Given the description of an element on the screen output the (x, y) to click on. 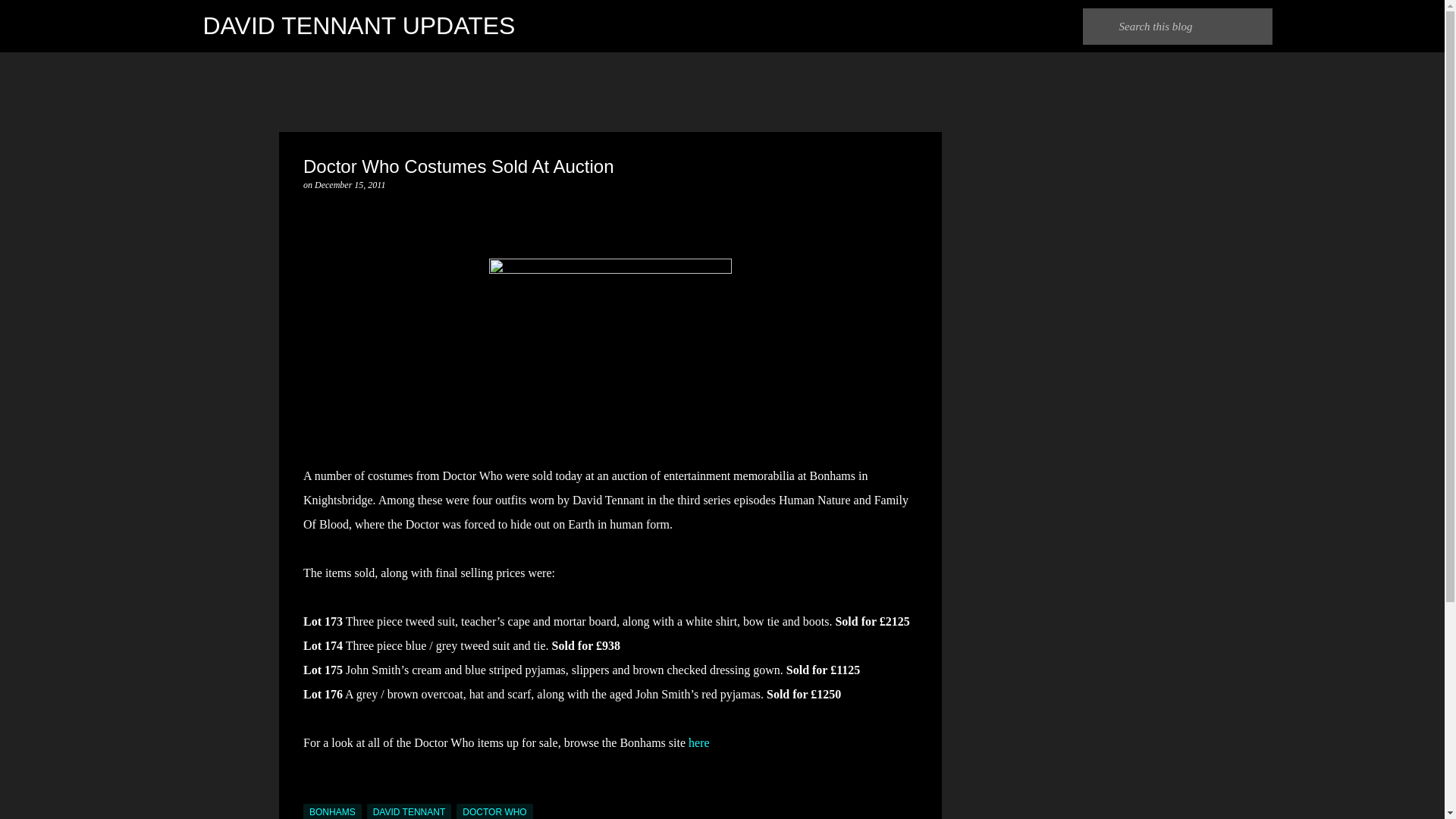
DAVID TENNANT (408, 811)
here (699, 742)
permanent link (349, 184)
Email Post (311, 794)
BONHAMS (331, 811)
DOCTOR WHO (494, 811)
DAVID TENNANT UPDATES (359, 25)
December 15, 2011 (349, 184)
